Given the description of an element on the screen output the (x, y) to click on. 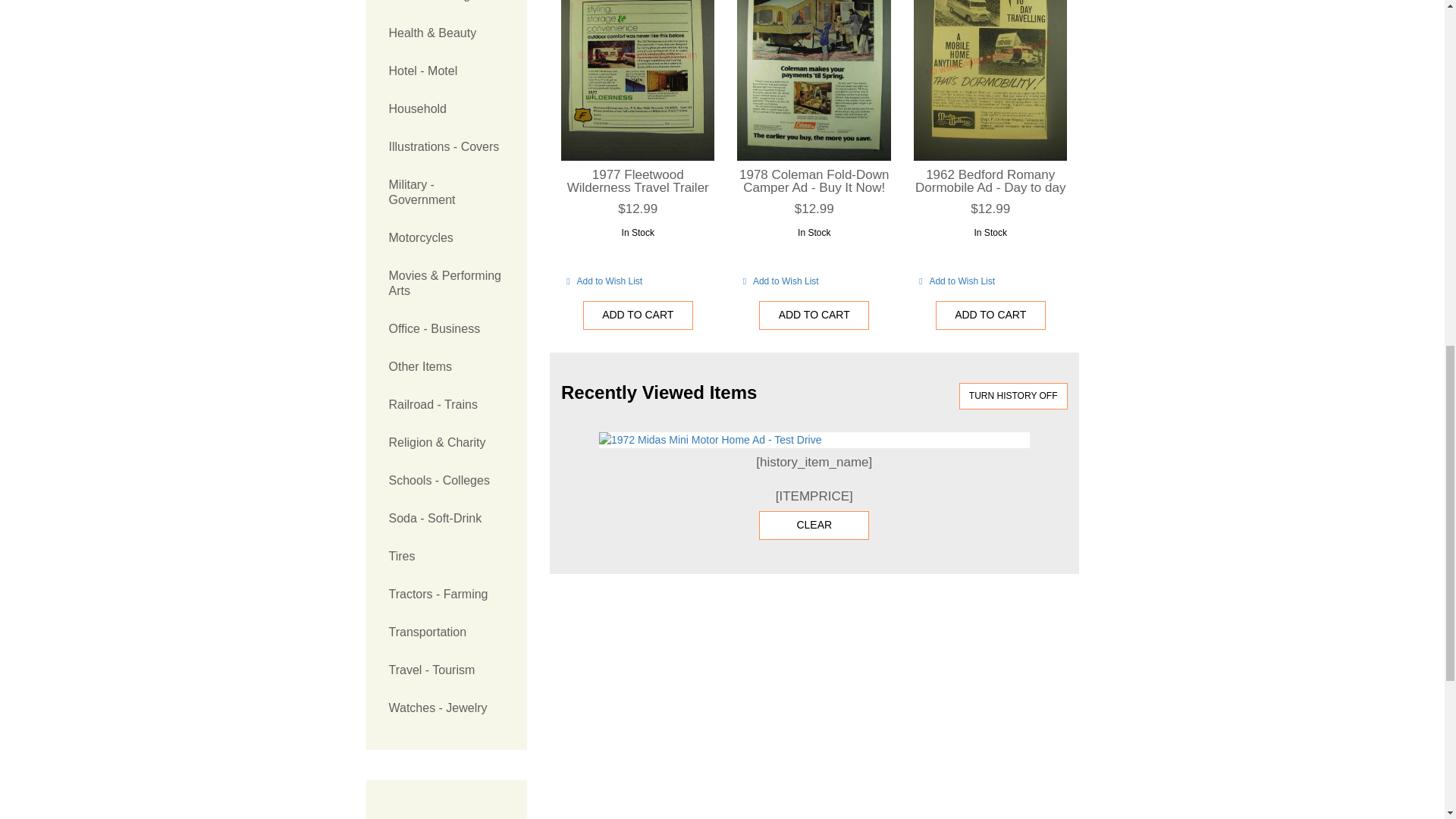
Other Items (445, 366)
Household (445, 108)
Hotel - Motel (445, 71)
Illustrations - Covers (445, 146)
Motorcycles (445, 238)
Military - Government (445, 192)
Office - Business (445, 329)
Guns - Hunting (445, 7)
